Given the description of an element on the screen output the (x, y) to click on. 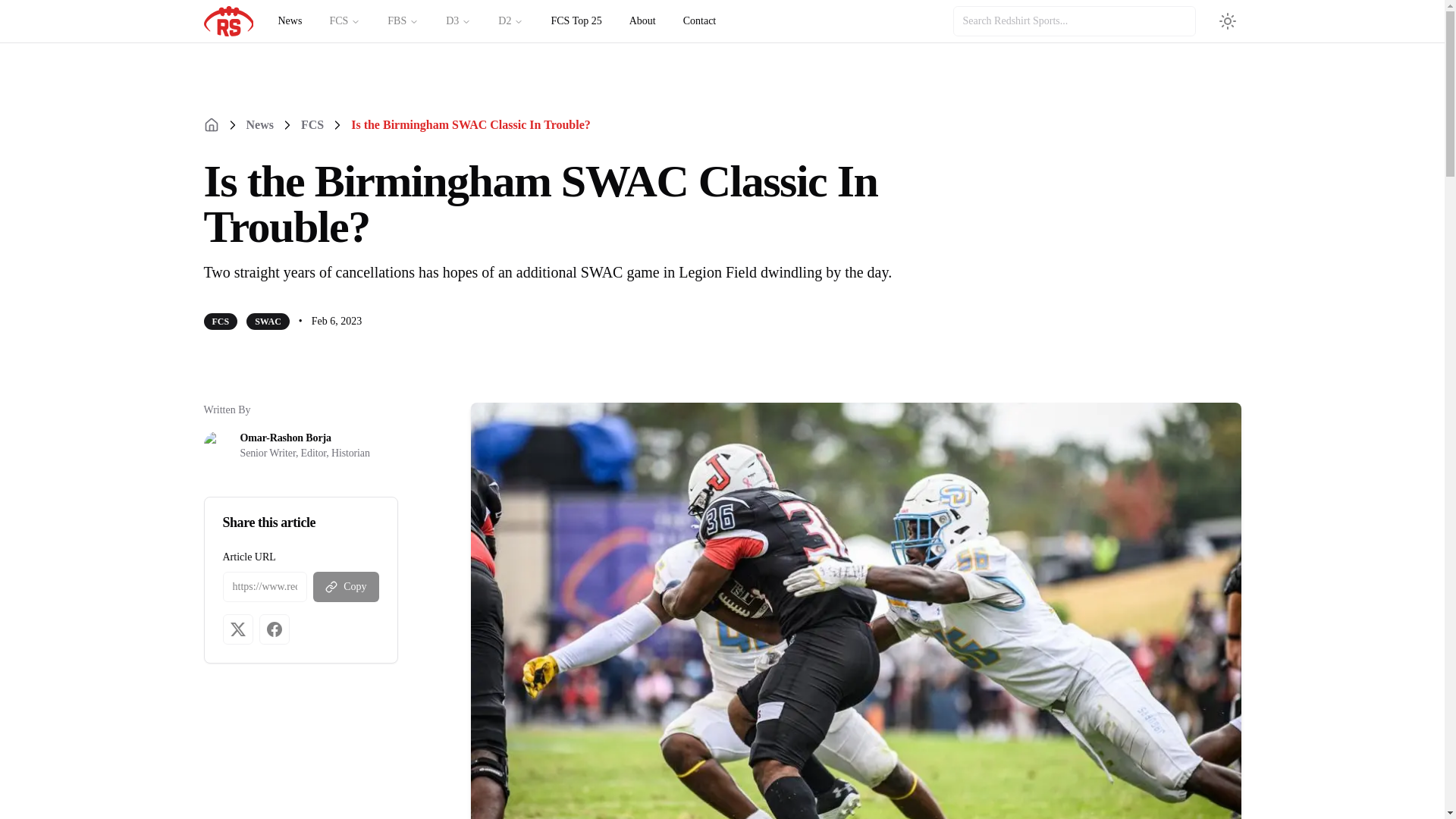
Is the Birmingham SWAC Classic In Trouble? (460, 125)
FCS (312, 125)
Omar-Rashon Borja (304, 437)
Home (210, 124)
breadcrumb (591, 125)
D3 (458, 20)
FBS (402, 20)
D2 (510, 20)
Share on Facebook (274, 629)
Home (210, 124)
